Given the description of an element on the screen output the (x, y) to click on. 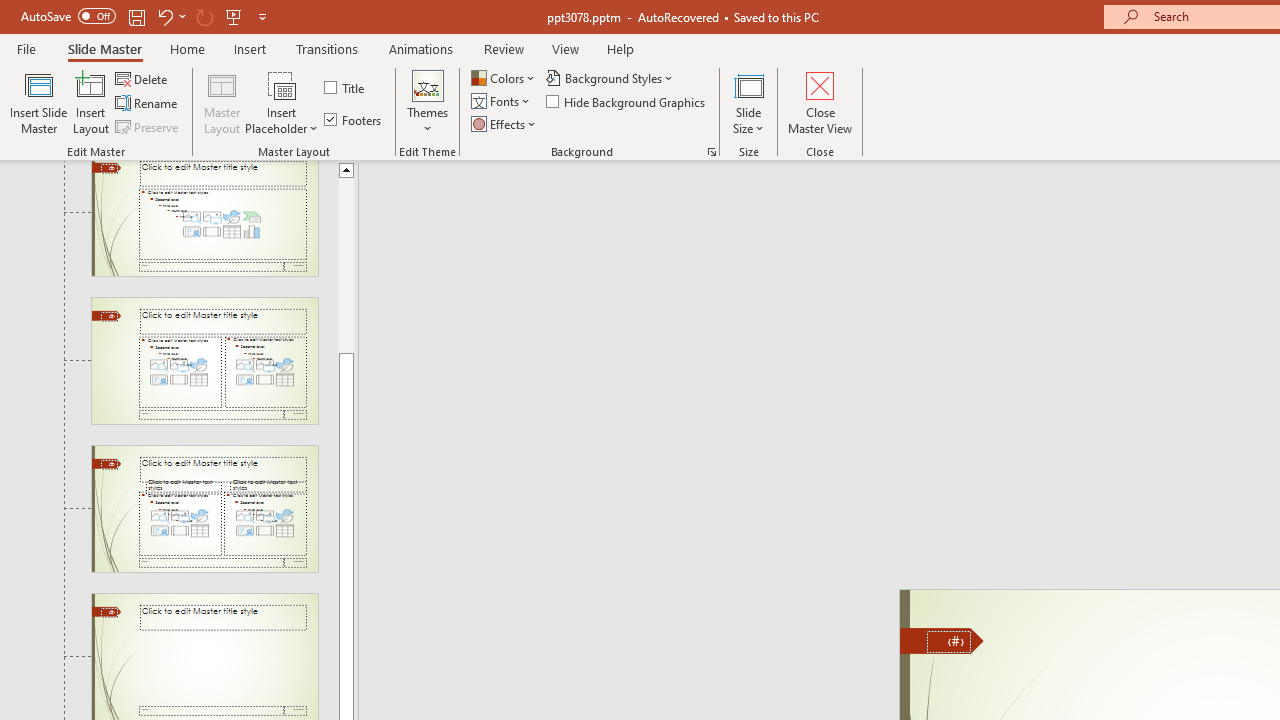
Redo (204, 15)
Slide Master (104, 48)
Insert (250, 48)
